Given the description of an element on the screen output the (x, y) to click on. 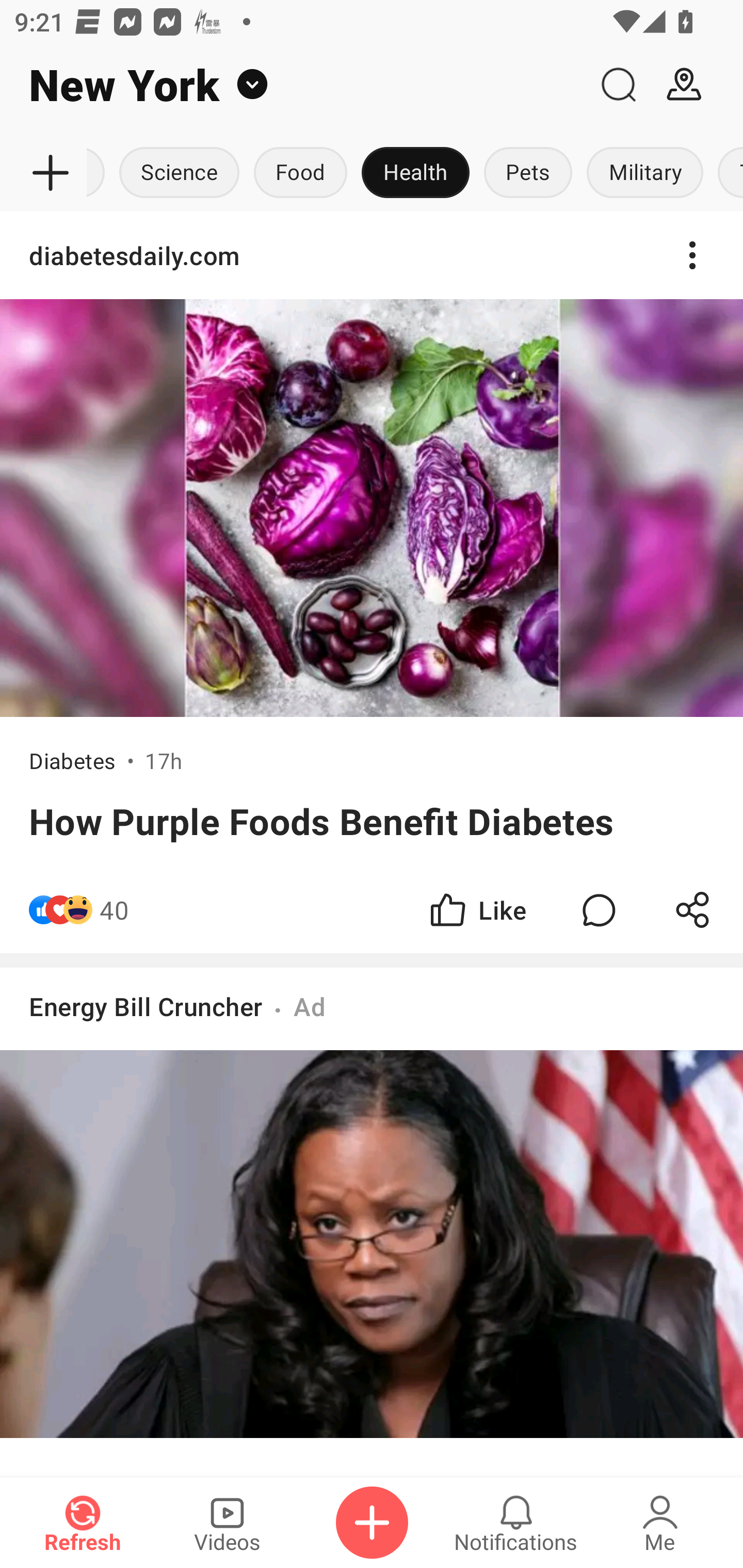
New York (292, 84)
Sports (99, 172)
Science (179, 172)
Food (300, 172)
Health (415, 172)
Pets (528, 172)
Military (644, 172)
diabetesdaily.com (371, 255)
40 (114, 910)
Like (476, 910)
Energy Bill Cruncher (145, 1006)
Videos (227, 1522)
Notifications (516, 1522)
Me (659, 1522)
